Given the description of an element on the screen output the (x, y) to click on. 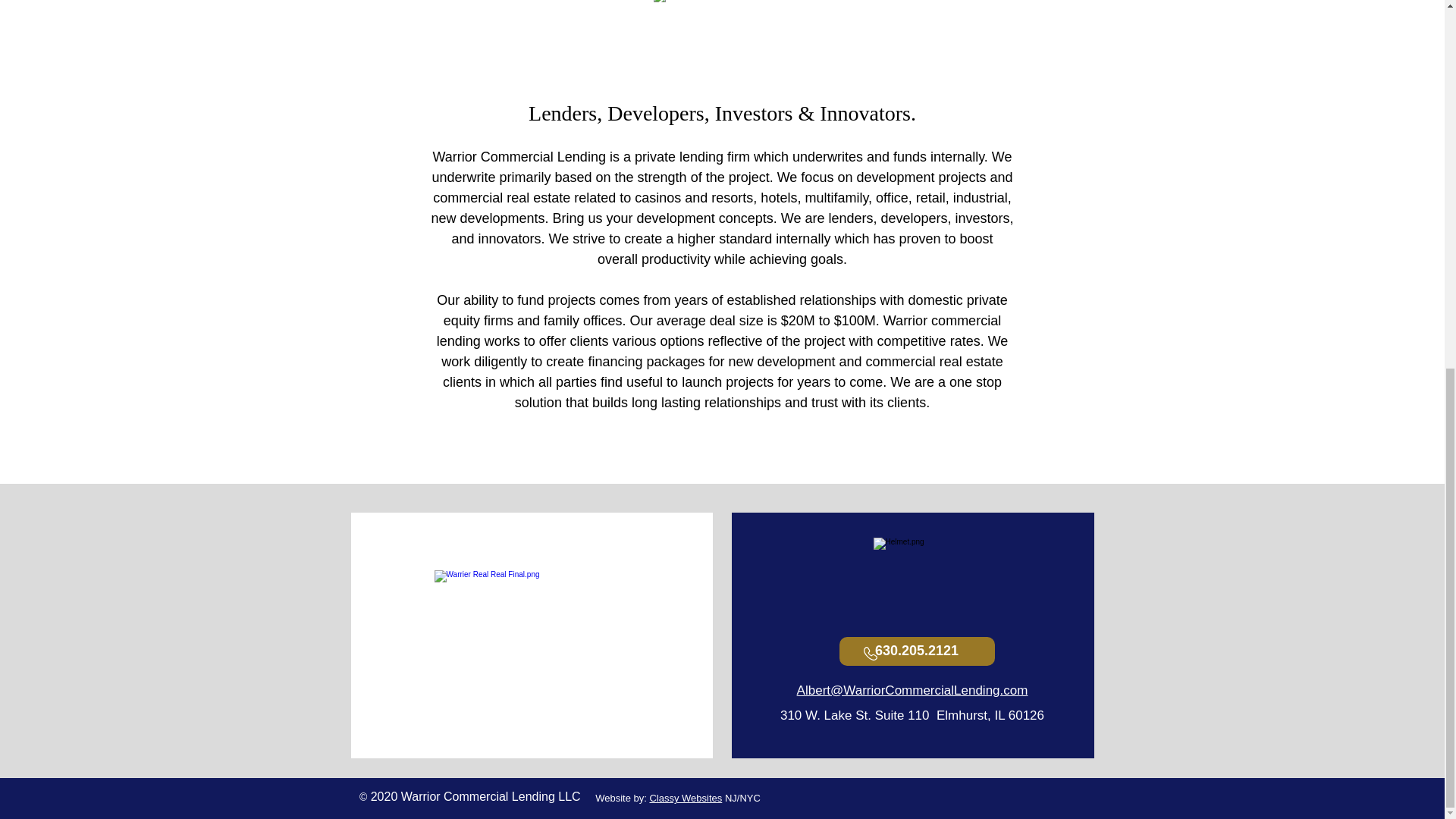
Classy Websites (685, 797)
